Given the description of an element on the screen output the (x, y) to click on. 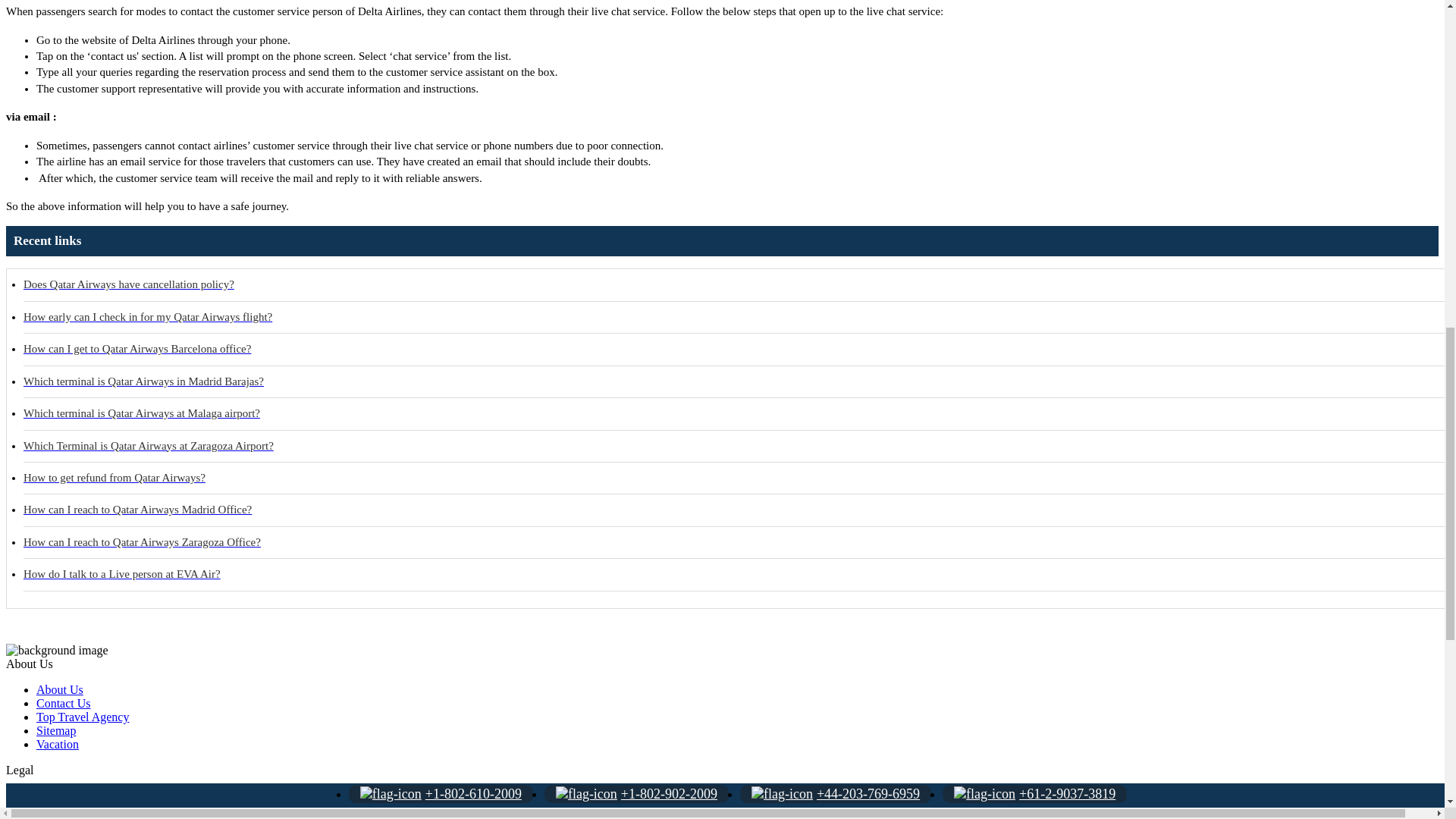
Privacy Policy (71, 809)
About Us (59, 689)
How do I talk to a Live person at EVA Air? (739, 574)
Contact Us (63, 703)
Vacation (57, 744)
How to get refund from Qatar Airways? (739, 478)
Terms Of Use (70, 817)
Does Qatar Airways have cancellation policy? (739, 285)
How can I get to Qatar Airways Barcelona office? (739, 349)
FAQ (47, 795)
